Given the description of an element on the screen output the (x, y) to click on. 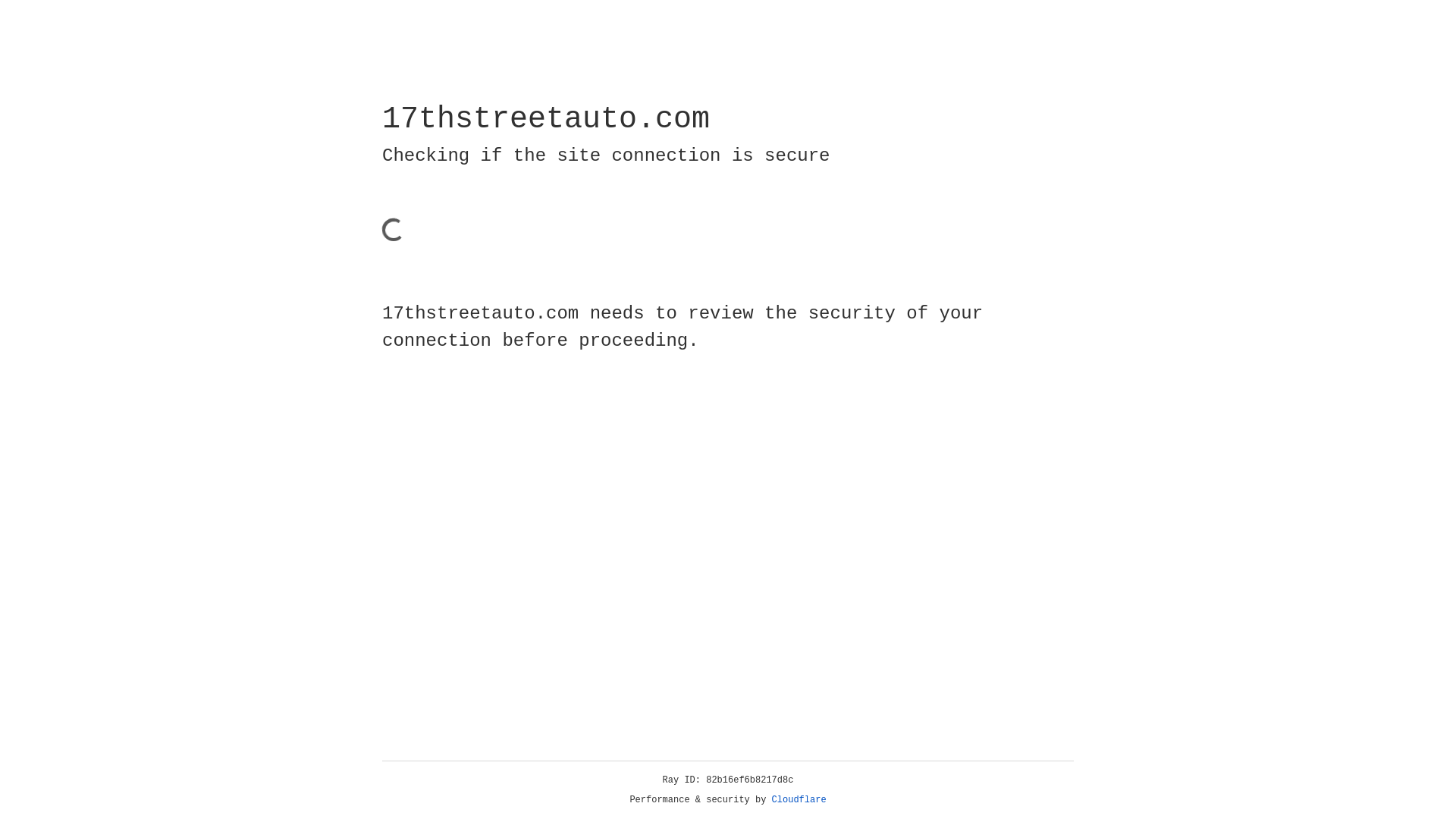
Cloudflare Element type: text (798, 799)
